Given the description of an element on the screen output the (x, y) to click on. 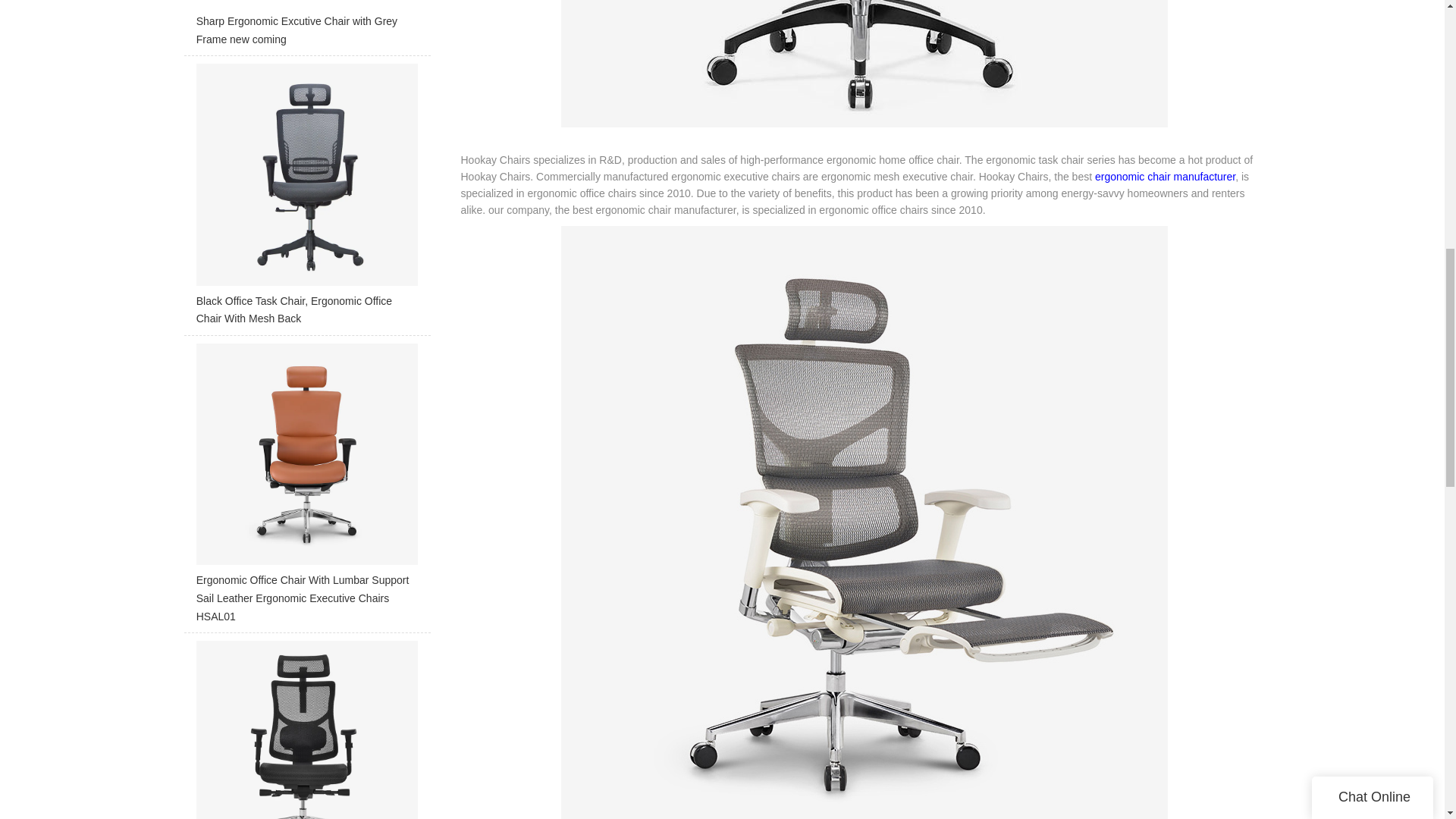
Sharp Ergonomic Excutive Chair with Grey Frame new coming (306, 27)
Super new design modern ergonomic chair SUM01 (306, 729)
